Given the description of an element on the screen output the (x, y) to click on. 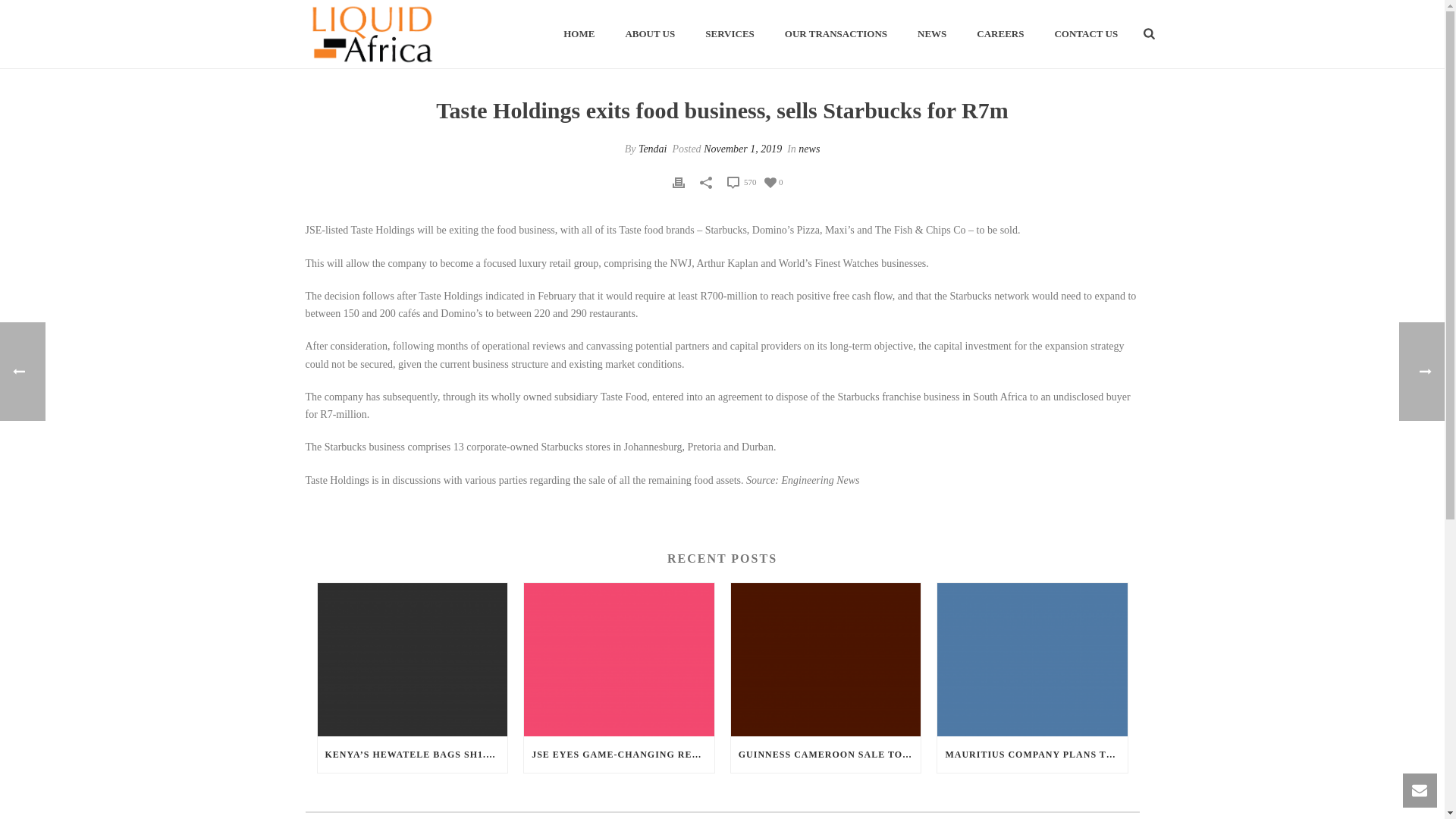
news (808, 148)
November 1, 2019 (742, 148)
570 (740, 181)
HOME (579, 34)
Posts by Tendai (652, 148)
CONTACT US (1085, 34)
Tendai (652, 148)
ABOUT US (650, 34)
HOME (579, 34)
Mauritius company plans to buy off Cipla Quality Chemicals (1031, 659)
ABOUT US (650, 34)
0 (773, 181)
Print (678, 181)
